Given the description of an element on the screen output the (x, y) to click on. 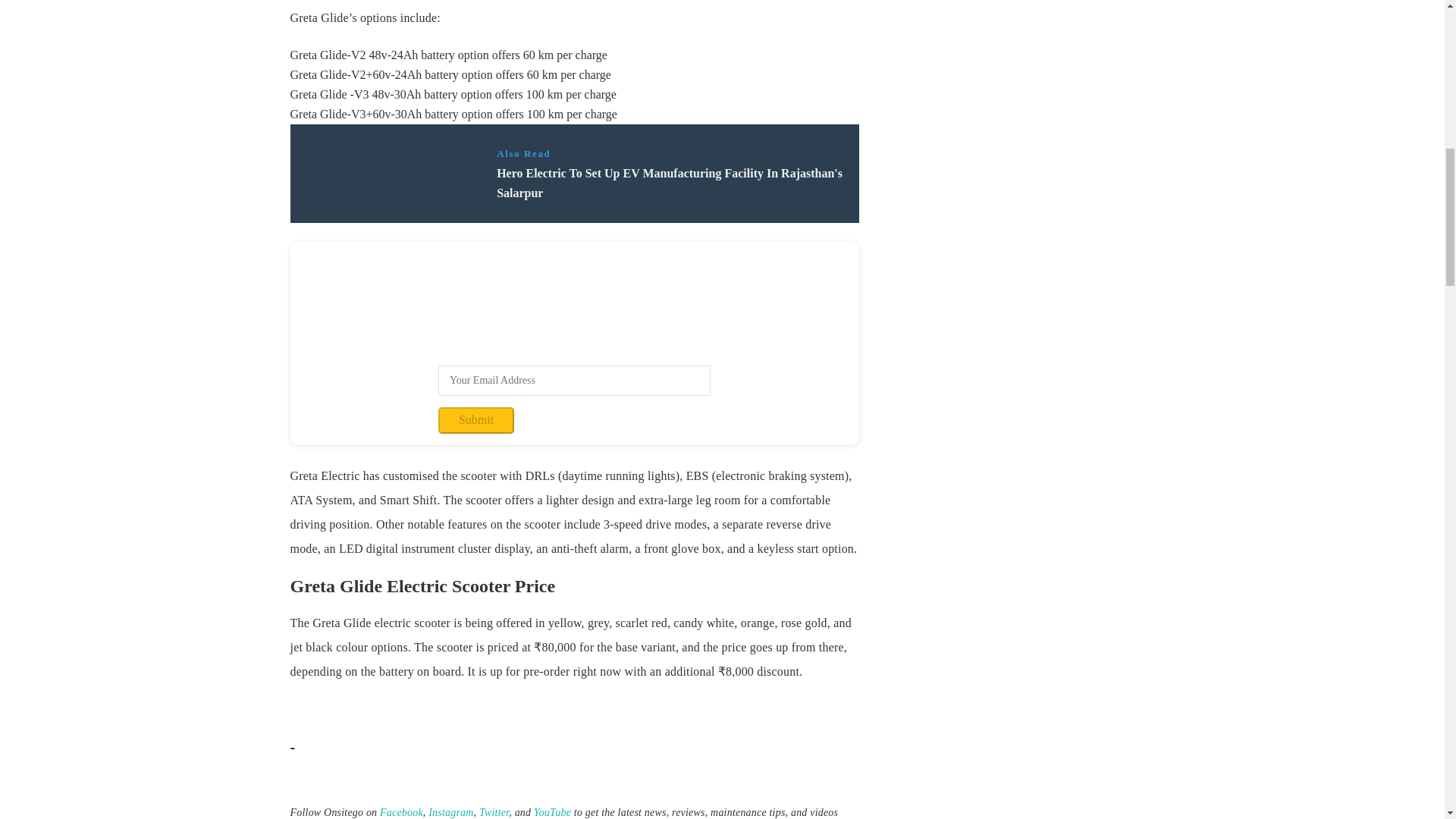
Submit (475, 420)
Submit (475, 420)
Facebook (401, 812)
